Given the description of an element on the screen output the (x, y) to click on. 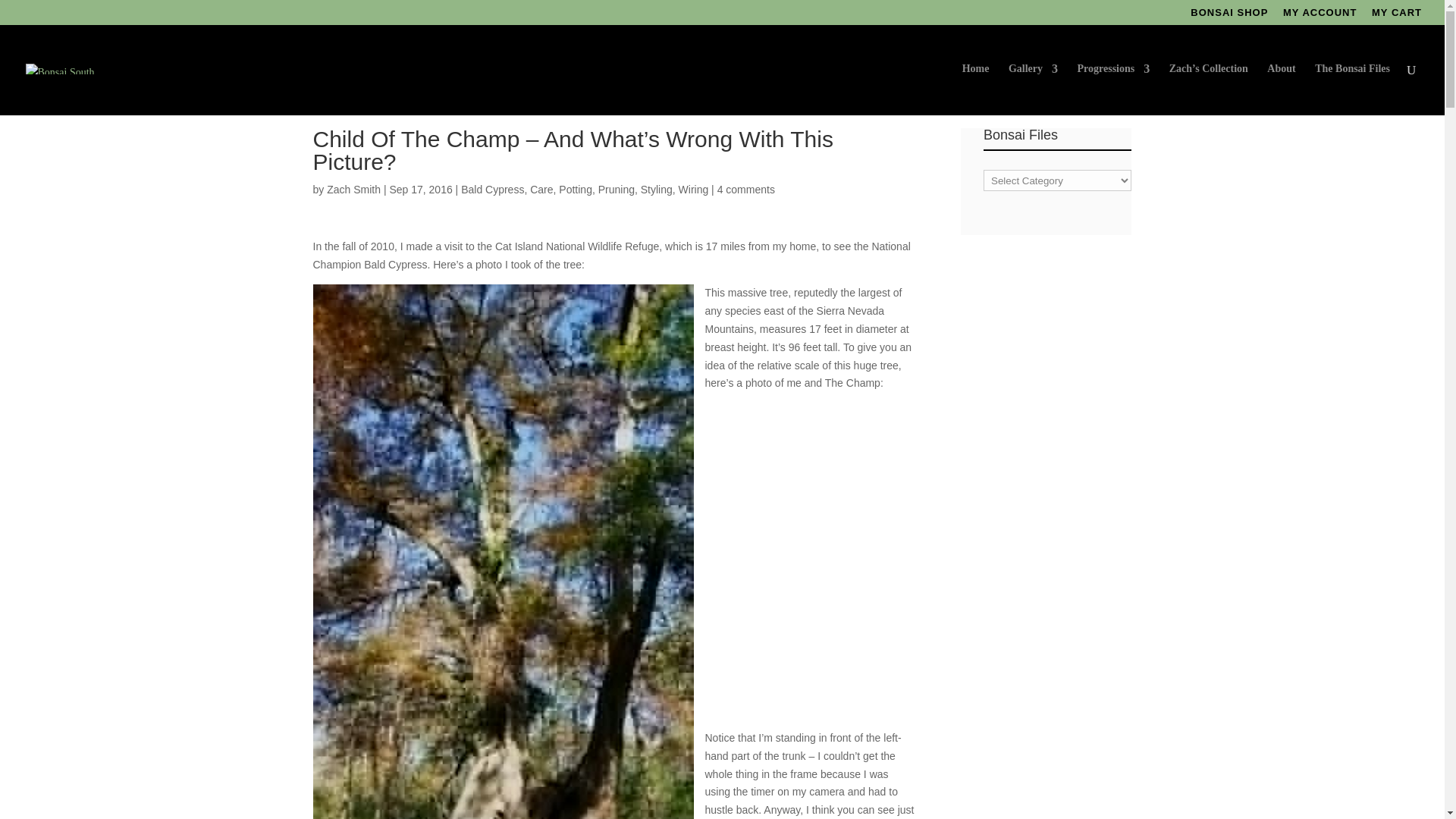
Progressions (1113, 89)
MY CART (1396, 16)
The Bonsai Files (1352, 89)
Bald Cypress (492, 189)
MY ACCOUNT (1319, 16)
Potting (575, 189)
Wiring (693, 189)
BONSAI SHOP (1229, 16)
Care (541, 189)
Gallery (1033, 89)
